Given the description of an element on the screen output the (x, y) to click on. 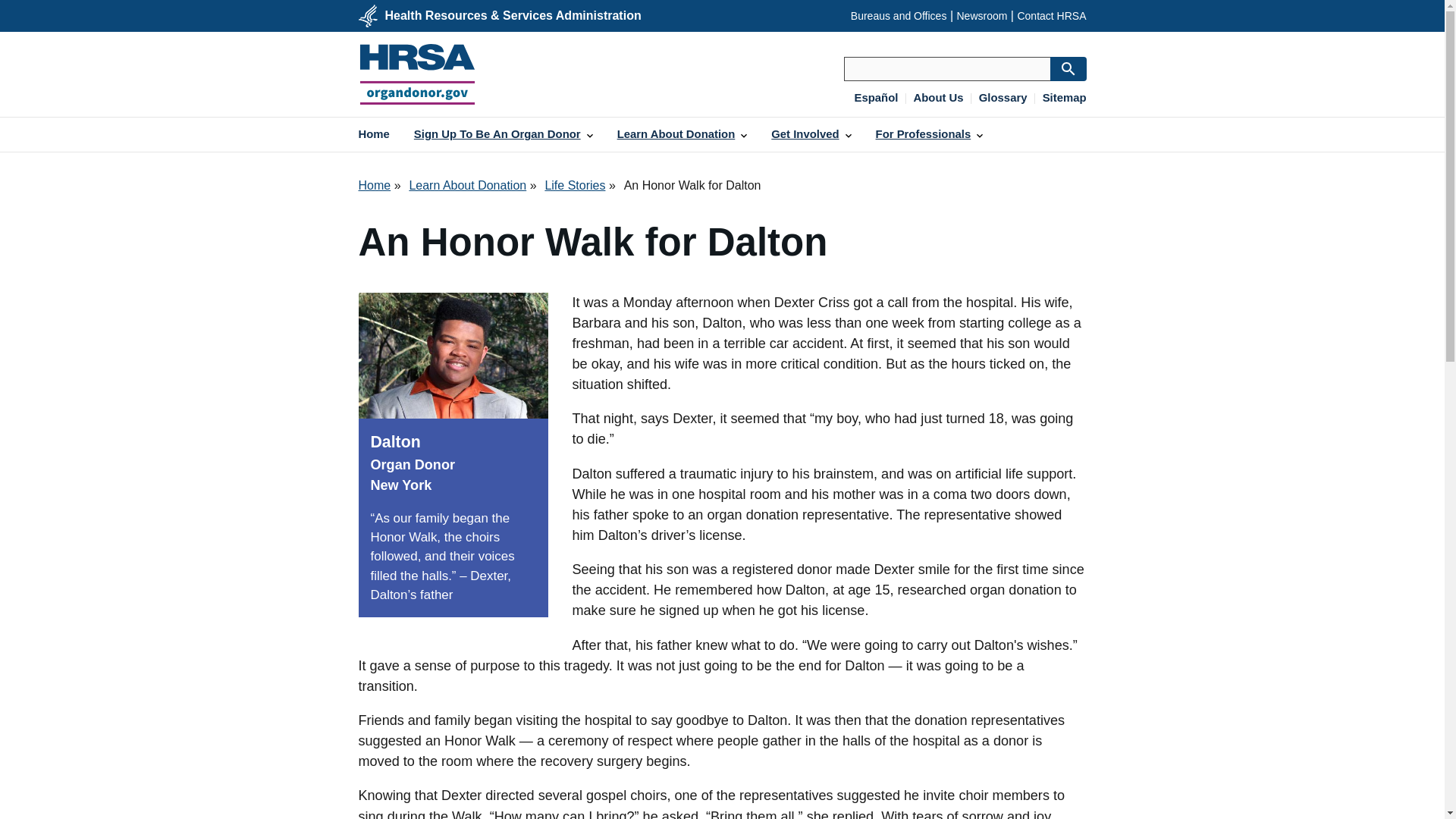
Learn About Donation (682, 134)
Contact HRSA (1051, 15)
Sitemap (1064, 98)
Enter the terms you wish to search for. (946, 68)
Learn About Donation (467, 185)
About Us (938, 98)
Home (374, 185)
Bureaus and Offices (898, 15)
Glossary (1002, 98)
Newsroom (981, 15)
Life Stories (574, 185)
Get Involved (810, 134)
organdonor.gov (417, 74)
HRSA organdonor.gov Home (417, 74)
